Given the description of an element on the screen output the (x, y) to click on. 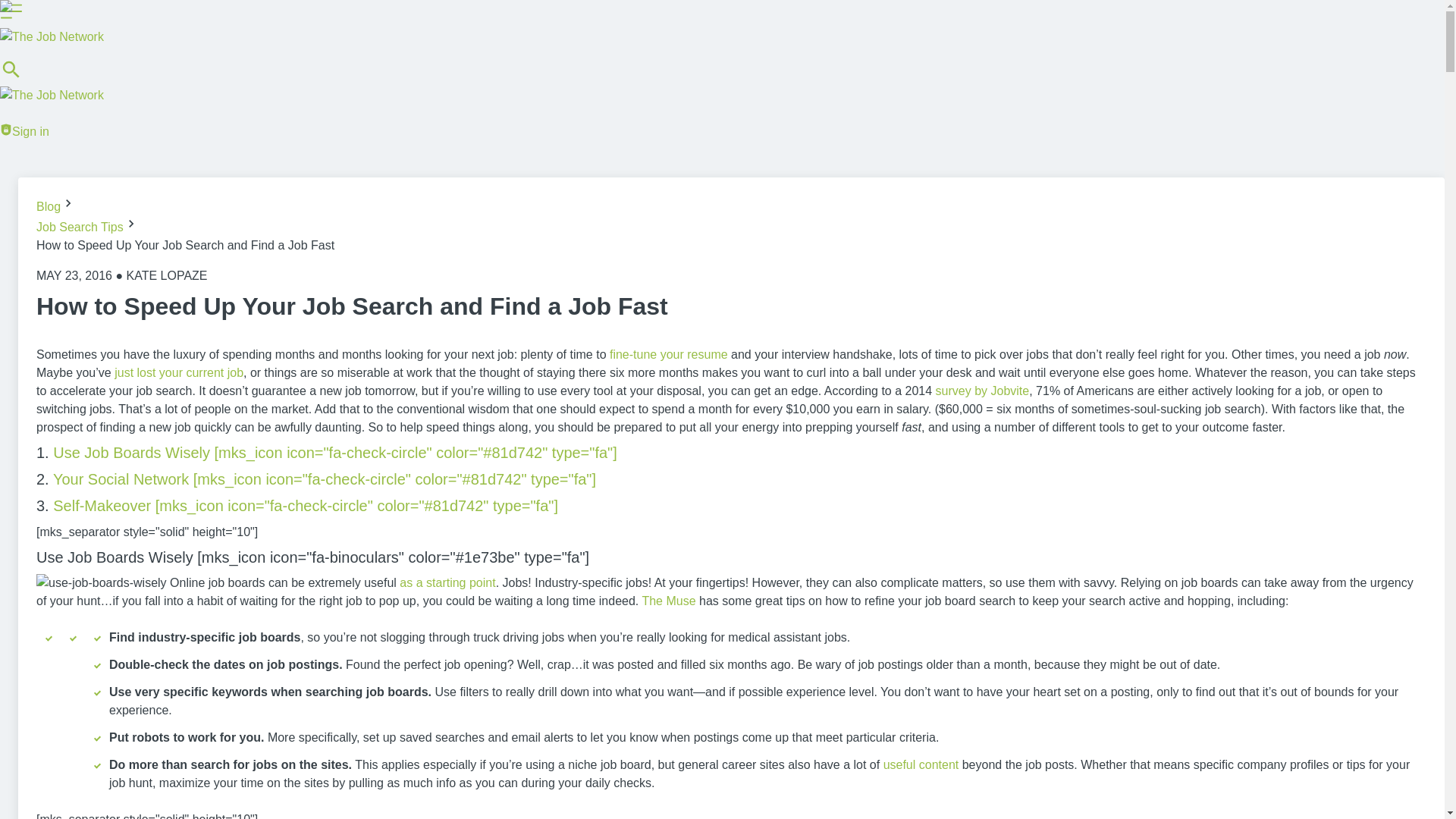
Search (11, 76)
Menu (11, 11)
Use Job Boards Wisely  (131, 452)
Your Social Network  (121, 478)
The Muse (668, 600)
fine-tune your resume (669, 354)
survey by Jobvite (982, 390)
as a starting point (446, 582)
Sign in (5, 129)
useful content (921, 764)
